Given the description of an element on the screen output the (x, y) to click on. 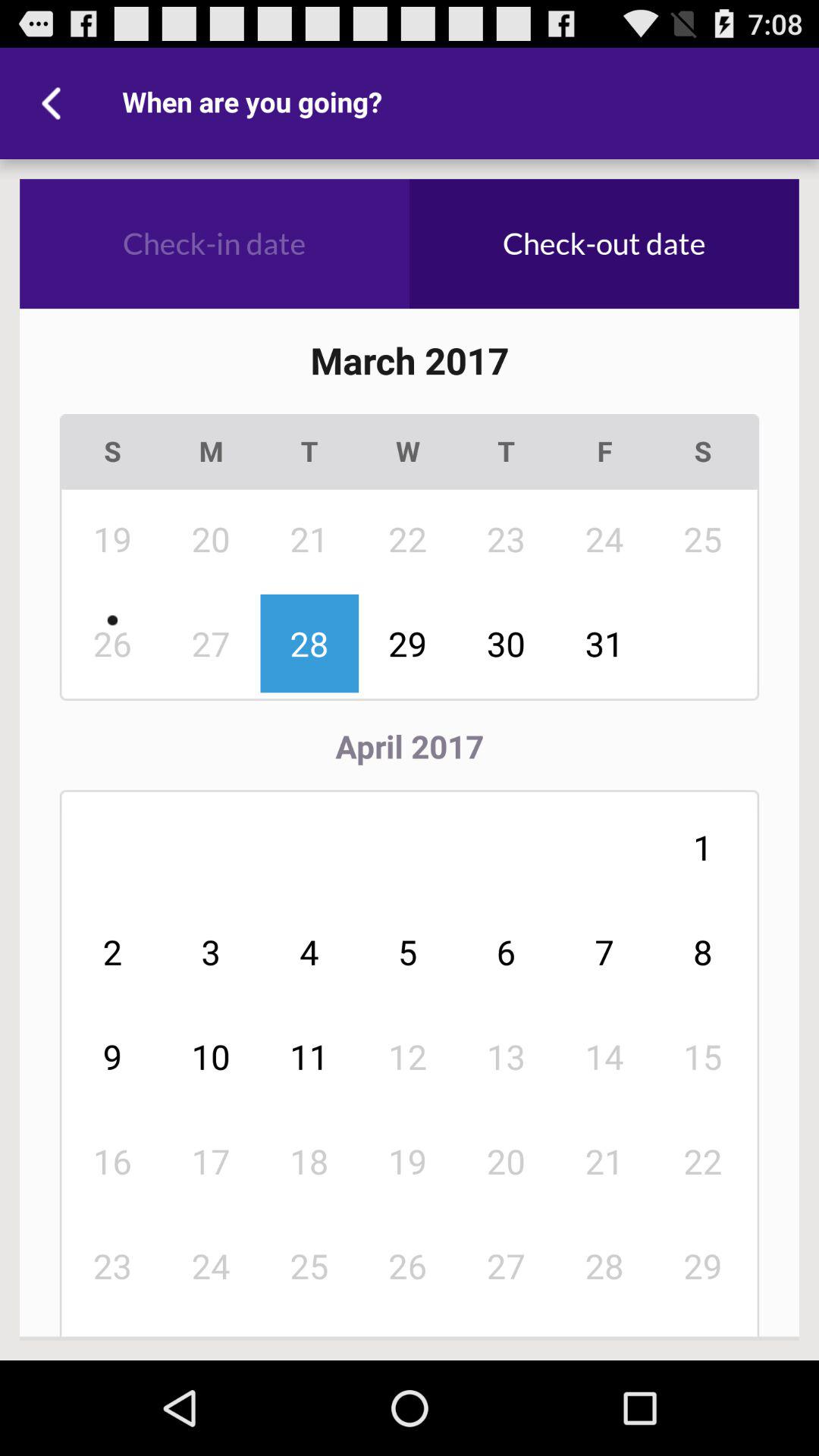
scroll to 8 icon (703, 951)
